Given the description of an element on the screen output the (x, y) to click on. 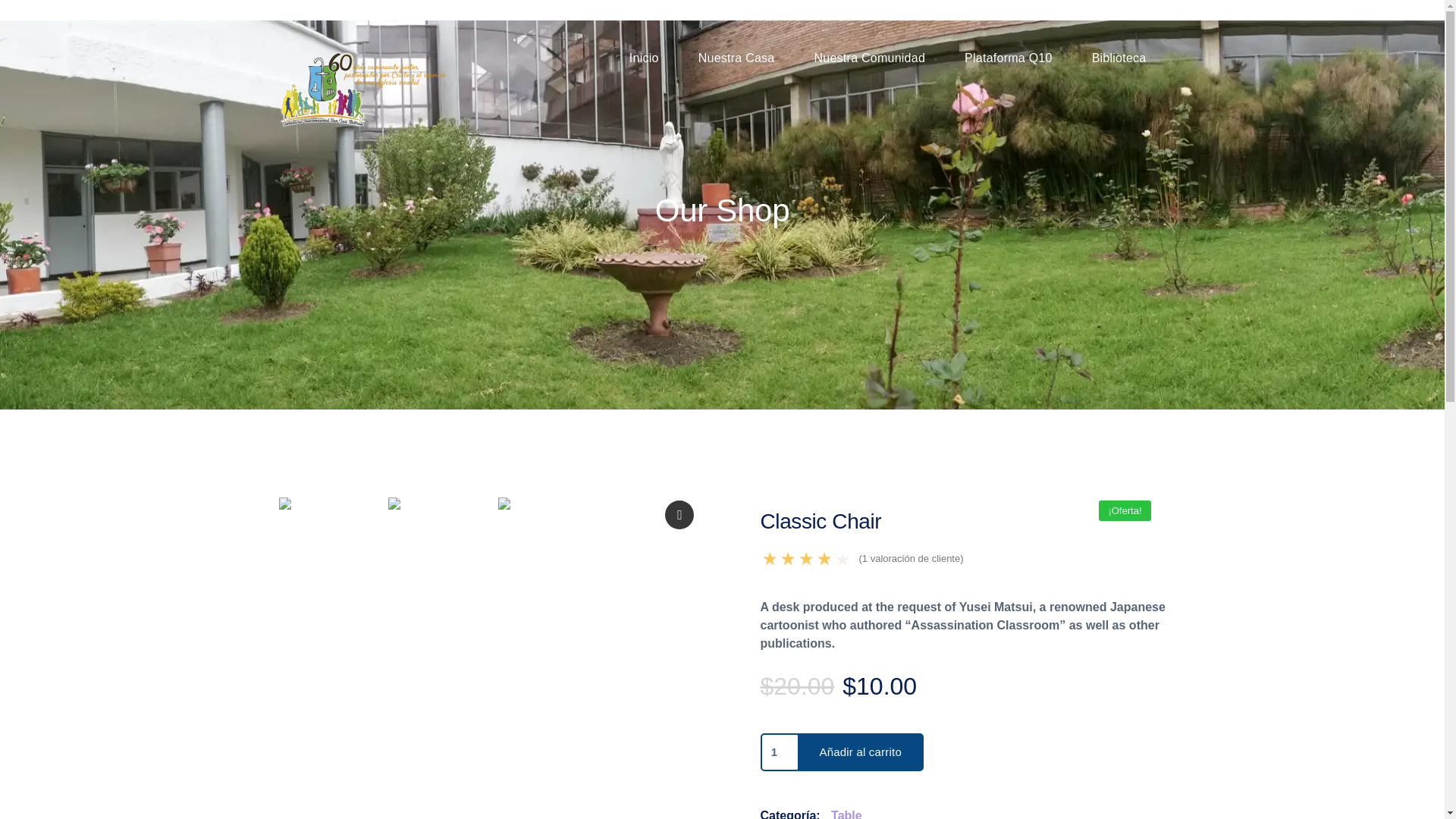
Nuestra Casa (736, 58)
Table (842, 813)
Plataforma Q10 (1007, 58)
Biblioteca (1119, 58)
Nuestra Comunidad (869, 58)
1 (779, 751)
